Given the description of an element on the screen output the (x, y) to click on. 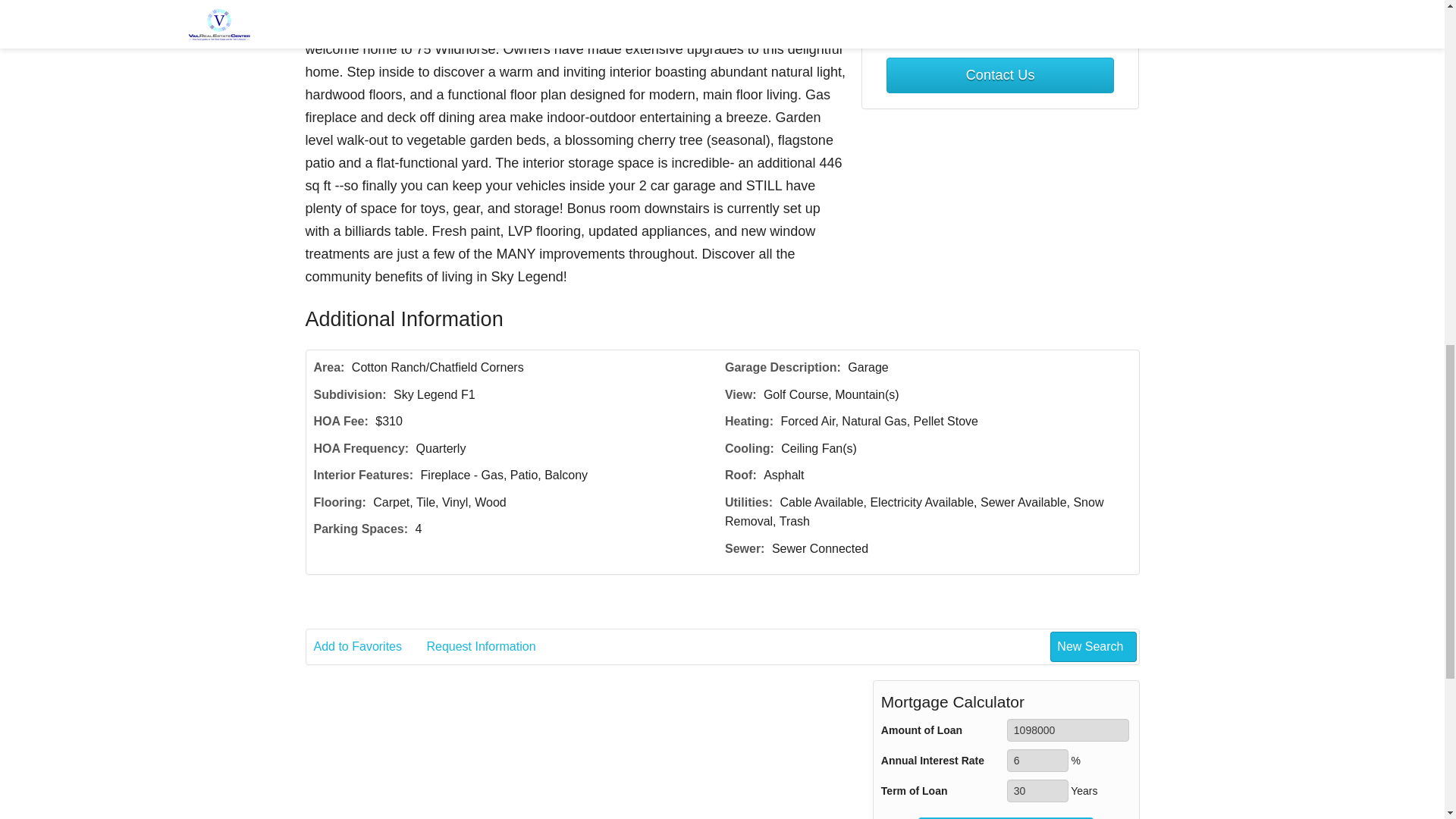
Contact Us (999, 75)
30 (1037, 790)
6 (1037, 760)
1098000 (1068, 730)
